Given the description of an element on the screen output the (x, y) to click on. 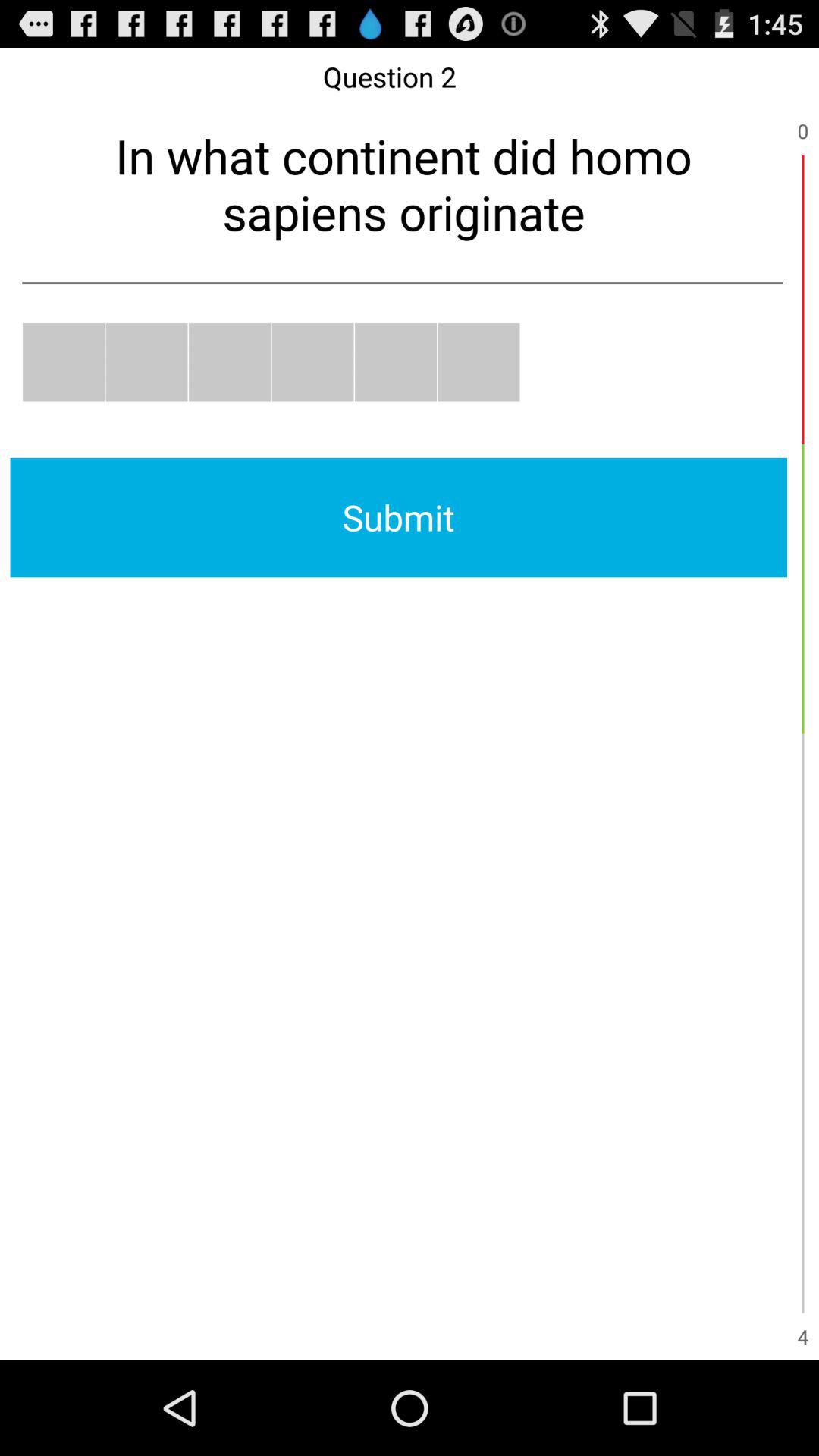
jump until submit (398, 517)
